Given the description of an element on the screen output the (x, y) to click on. 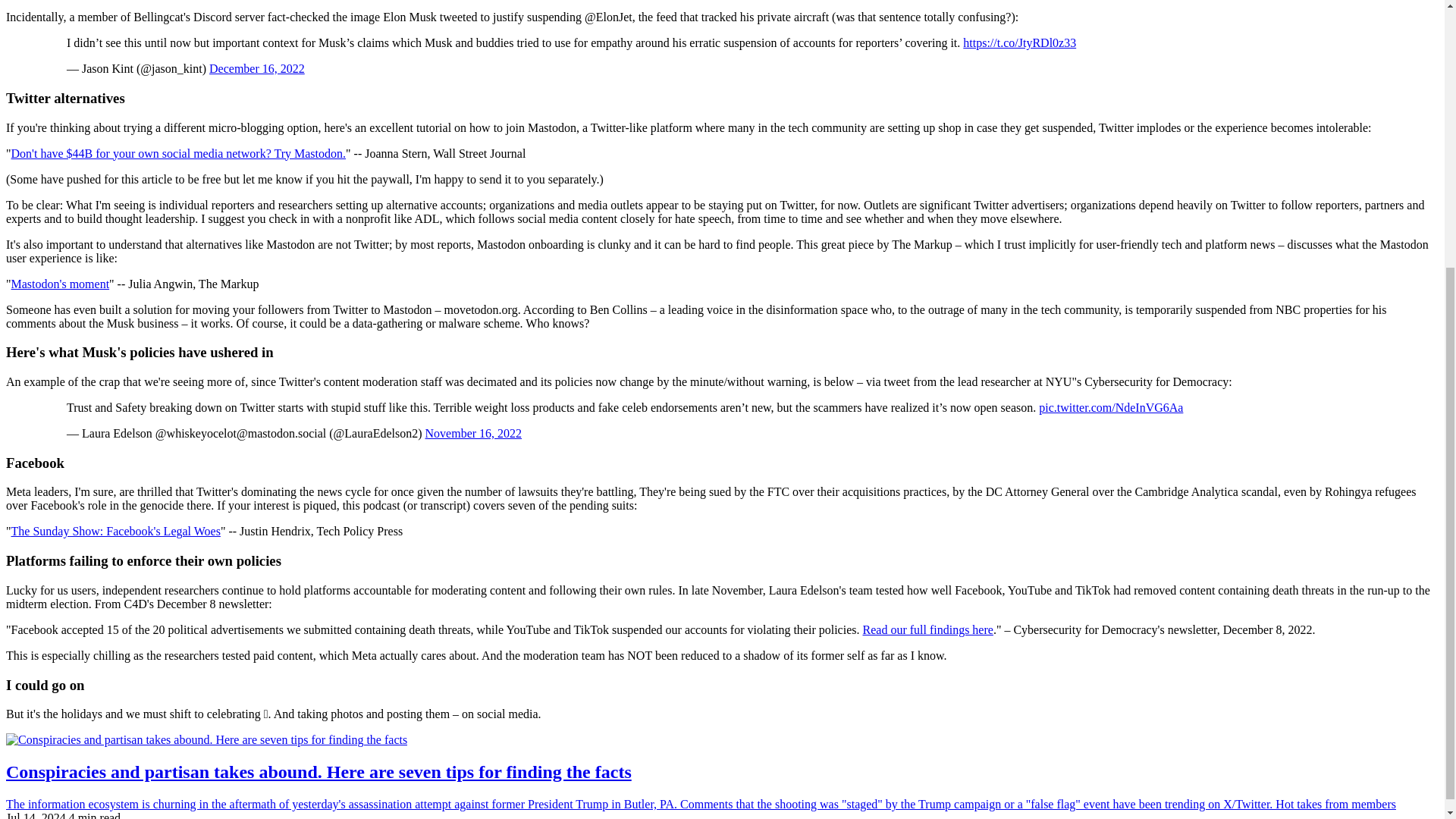
Mastodon's moment (60, 283)
The Sunday Show: Facebook's Legal Woes (116, 530)
Read our full findings here (927, 629)
December 16, 2022 (256, 68)
November 16, 2022 (473, 432)
